Given the description of an element on the screen output the (x, y) to click on. 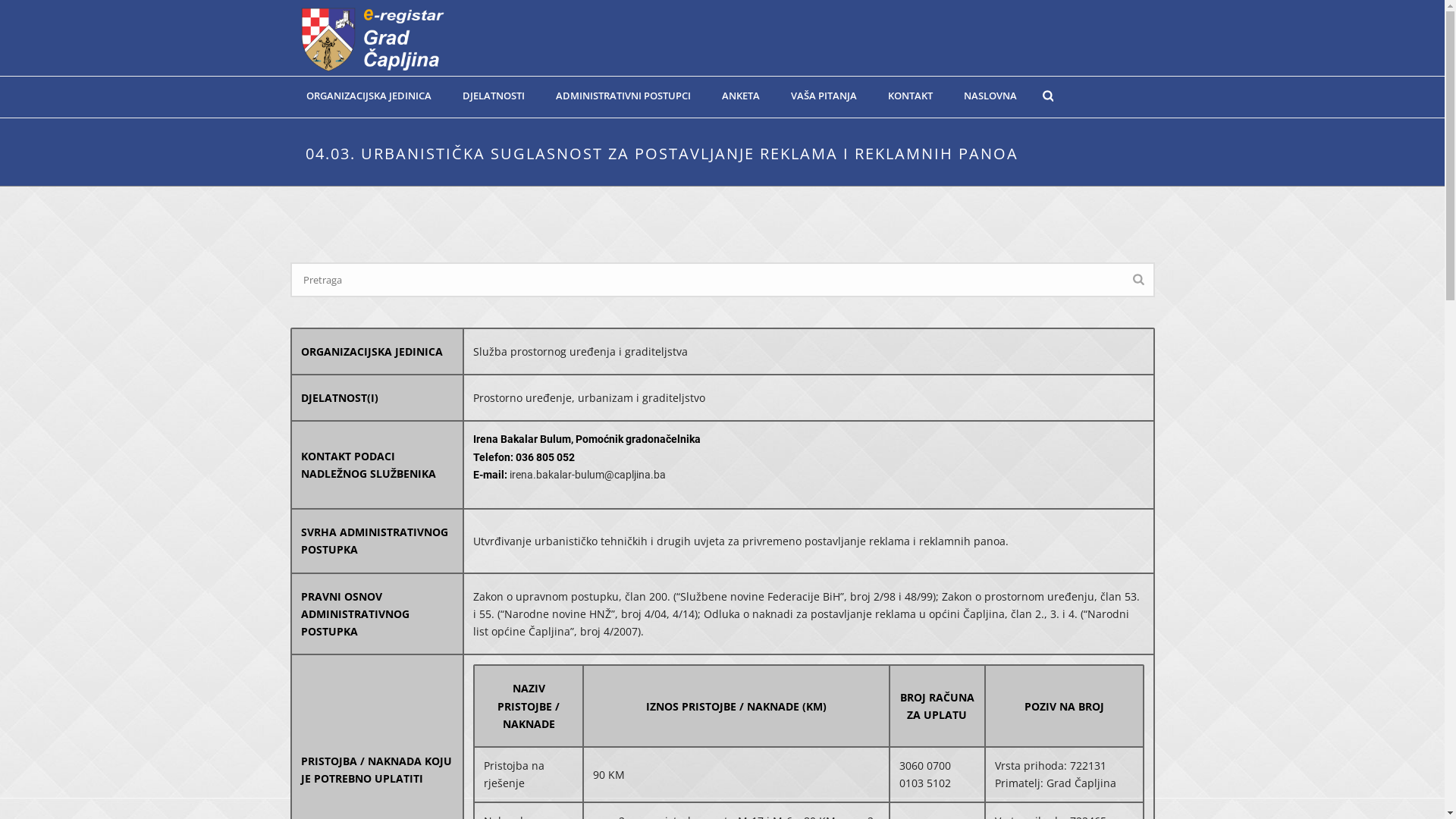
DJELATNOSTI Element type: text (493, 95)
ANKETA Element type: text (740, 95)
ADMINISTRATIVNI POSTUPCI Element type: text (622, 95)
irena.bakalar-bulum@capljina.ba Element type: text (587, 474)
KONTAKT Element type: text (909, 95)
NASLOVNA Element type: text (989, 95)
eRegistar Element type: hover (371, 37)
ORGANIZACIJSKA JEDINICA Element type: text (368, 95)
